Given the description of an element on the screen output the (x, y) to click on. 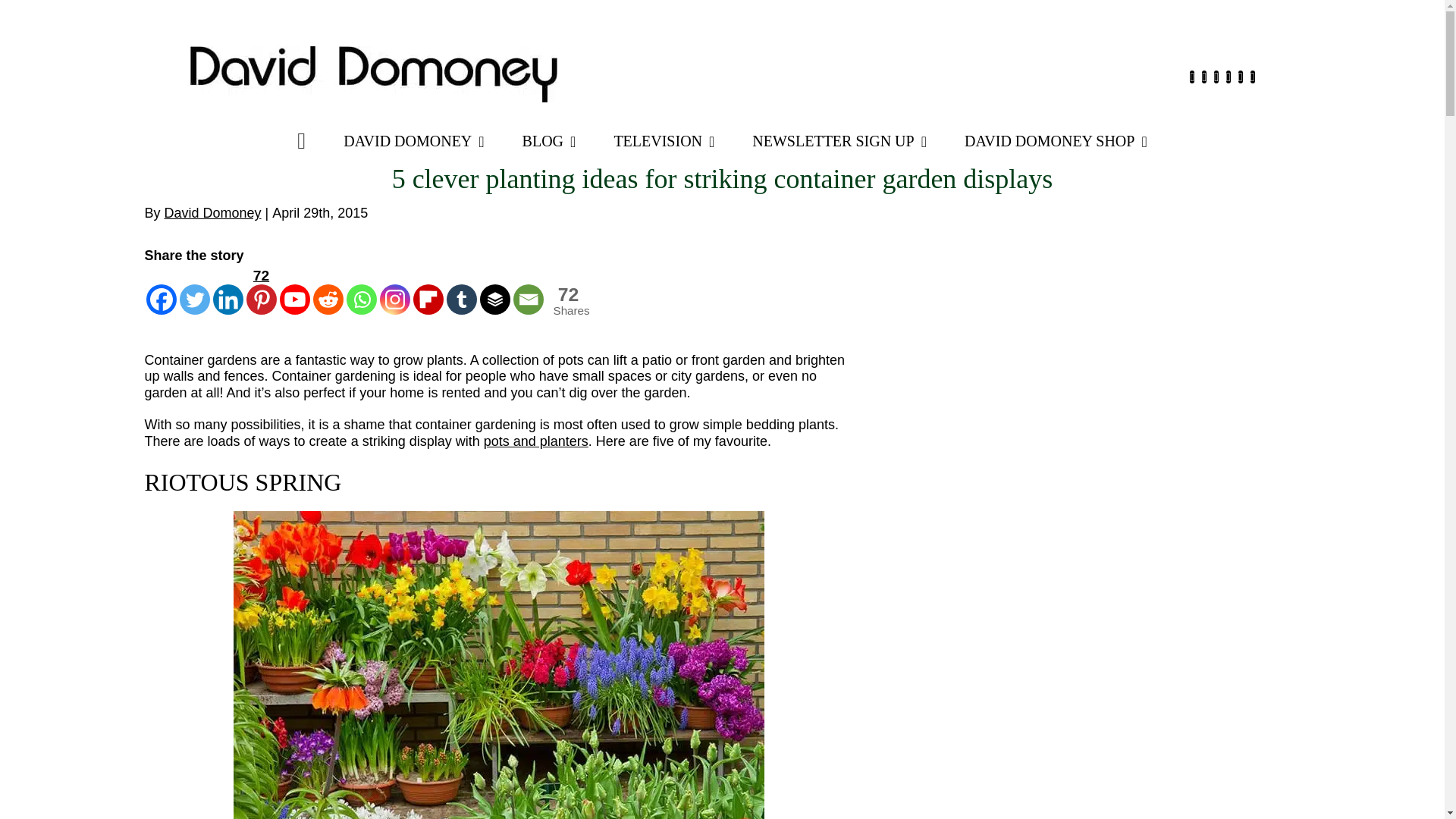
TELEVISION (663, 141)
DAVID DOMONEY SHOP (1055, 141)
BLOG (549, 141)
NEWSLETTER SIGN UP (839, 141)
Posts by David Domoney (213, 212)
DAVID DOMONEY (413, 141)
Shop (1055, 141)
